Given the description of an element on the screen output the (x, y) to click on. 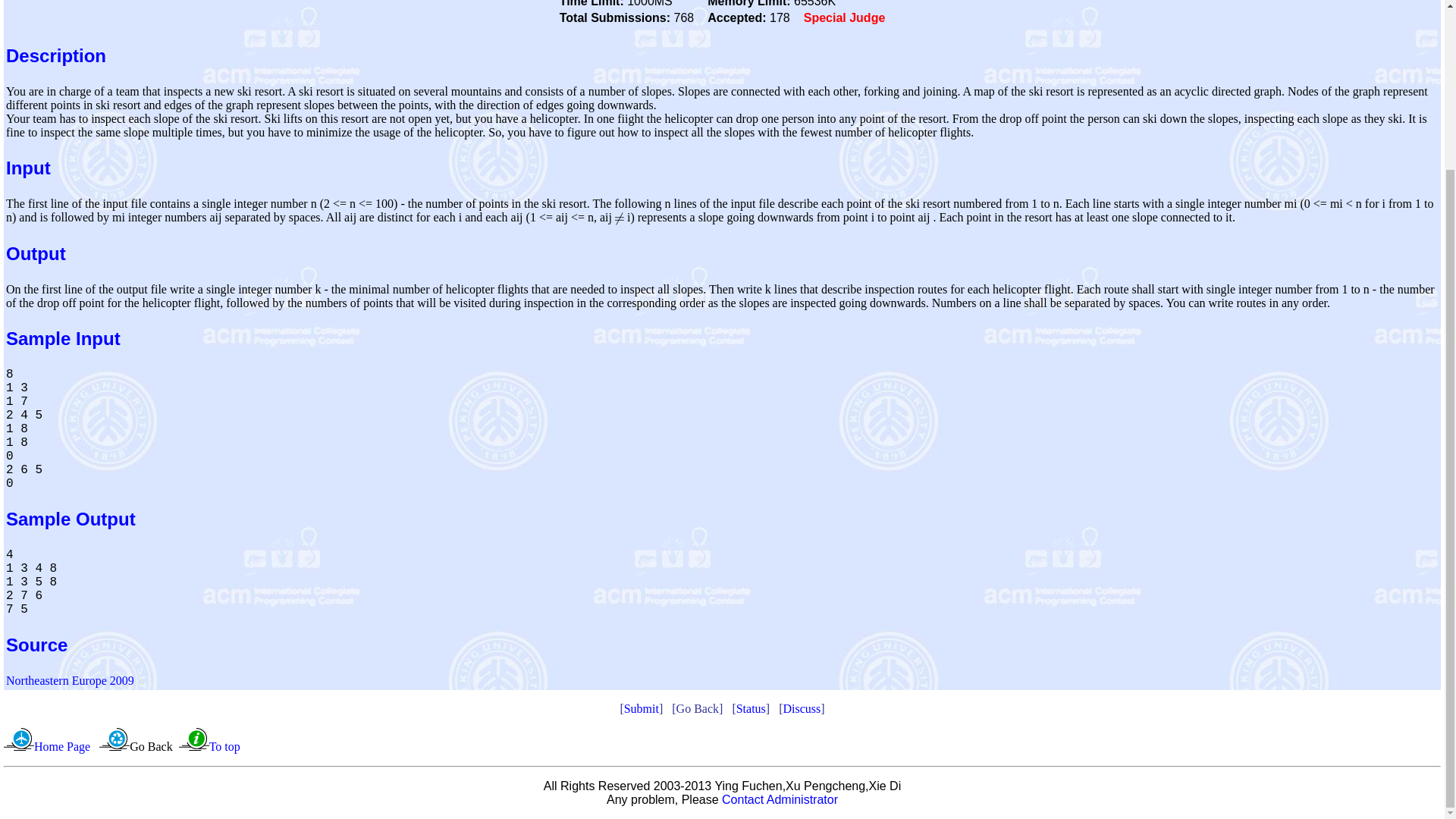
Northeastern Europe 2009 (69, 680)
To top (224, 746)
Home Page (61, 746)
Go Back (150, 746)
Status (750, 707)
Submit (641, 707)
Go Back (698, 707)
Contact Administrator (780, 799)
Discuss (802, 707)
